Given the description of an element on the screen output the (x, y) to click on. 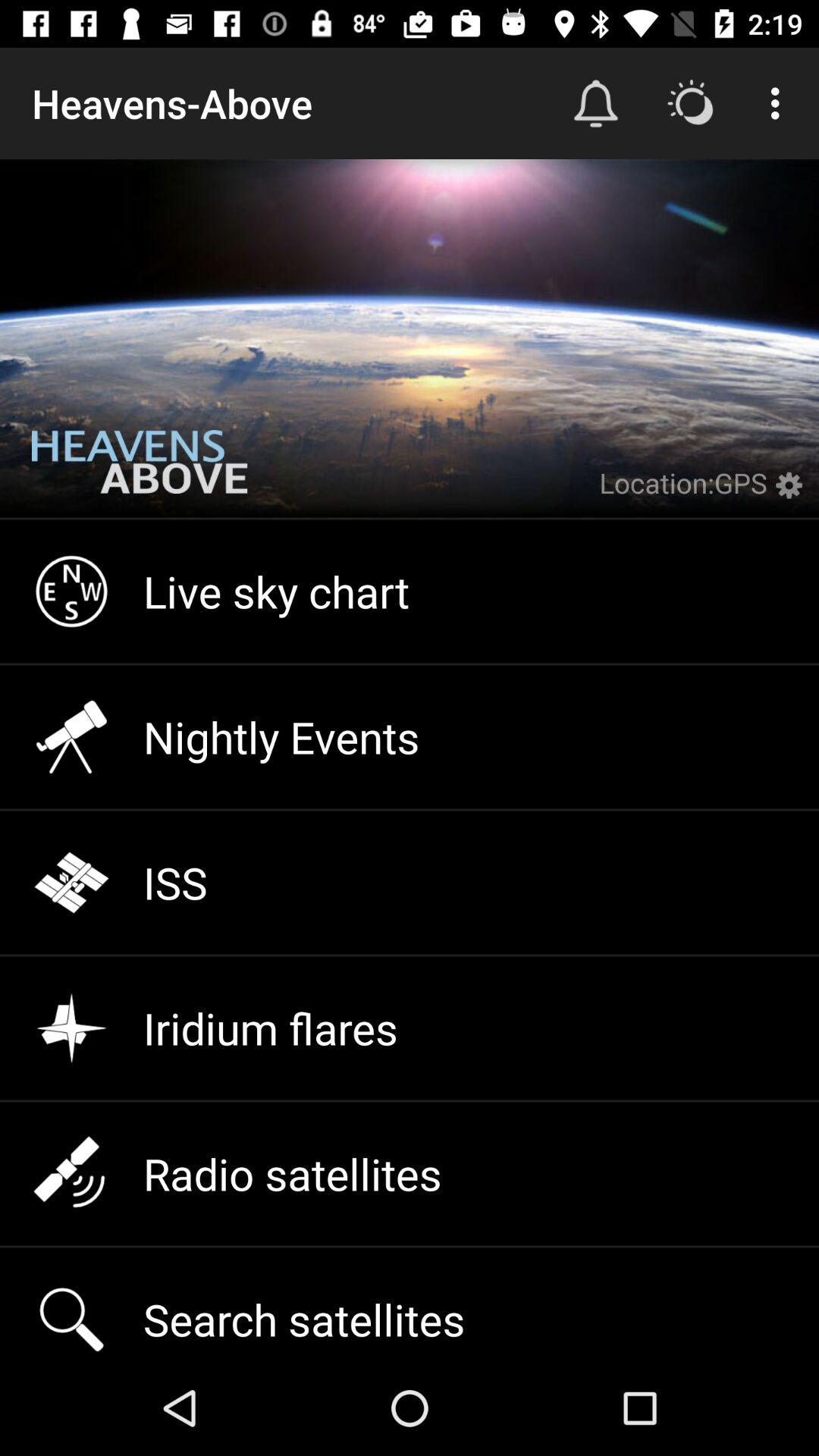
settings toggle (793, 494)
